Given the description of an element on the screen output the (x, y) to click on. 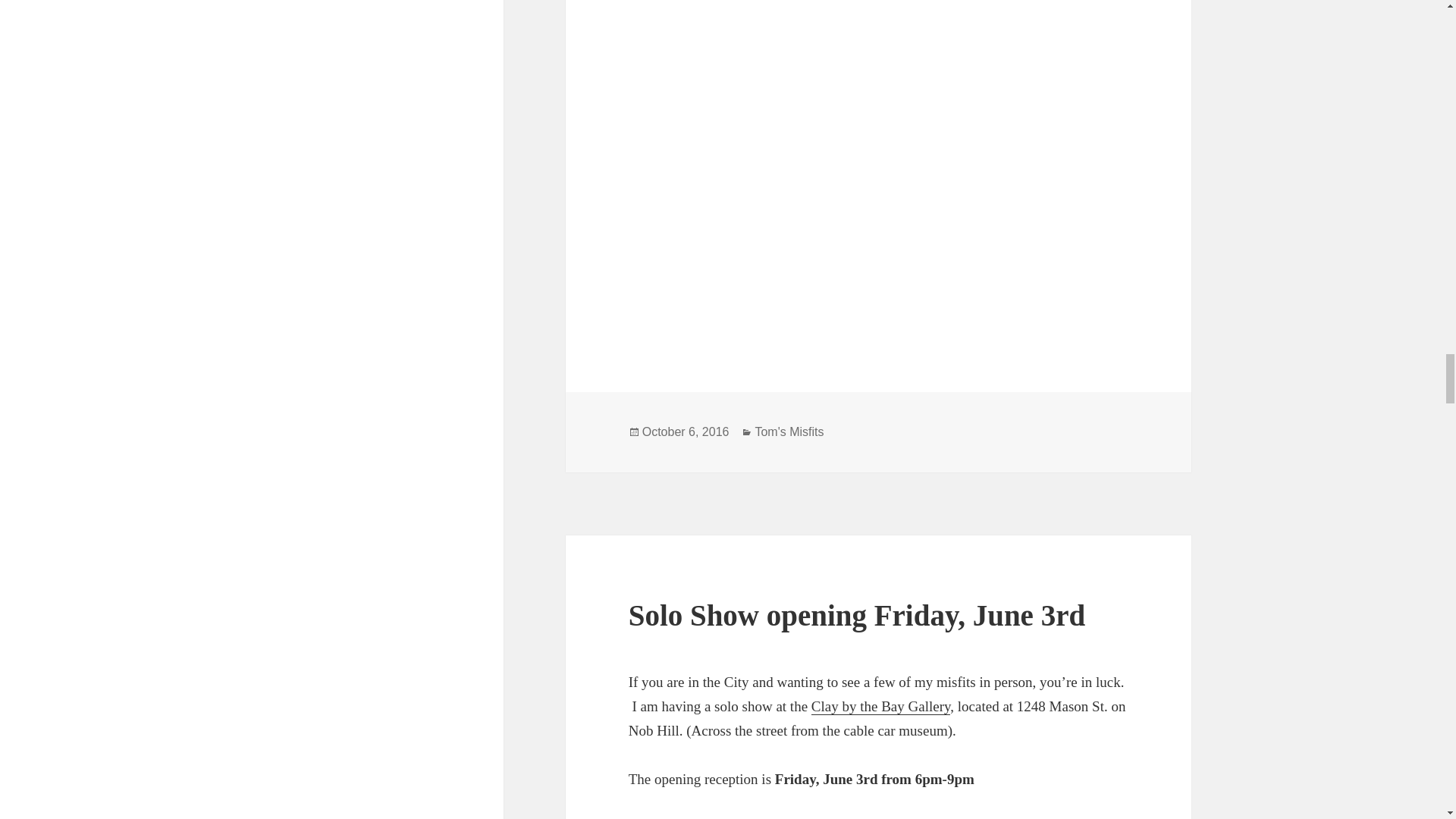
Clay by the Bay Gallery (880, 706)
October 6, 2016 (685, 431)
Solo Show opening Friday, June 3rd (856, 614)
Tom's Misfits (789, 431)
